Given the description of an element on the screen output the (x, y) to click on. 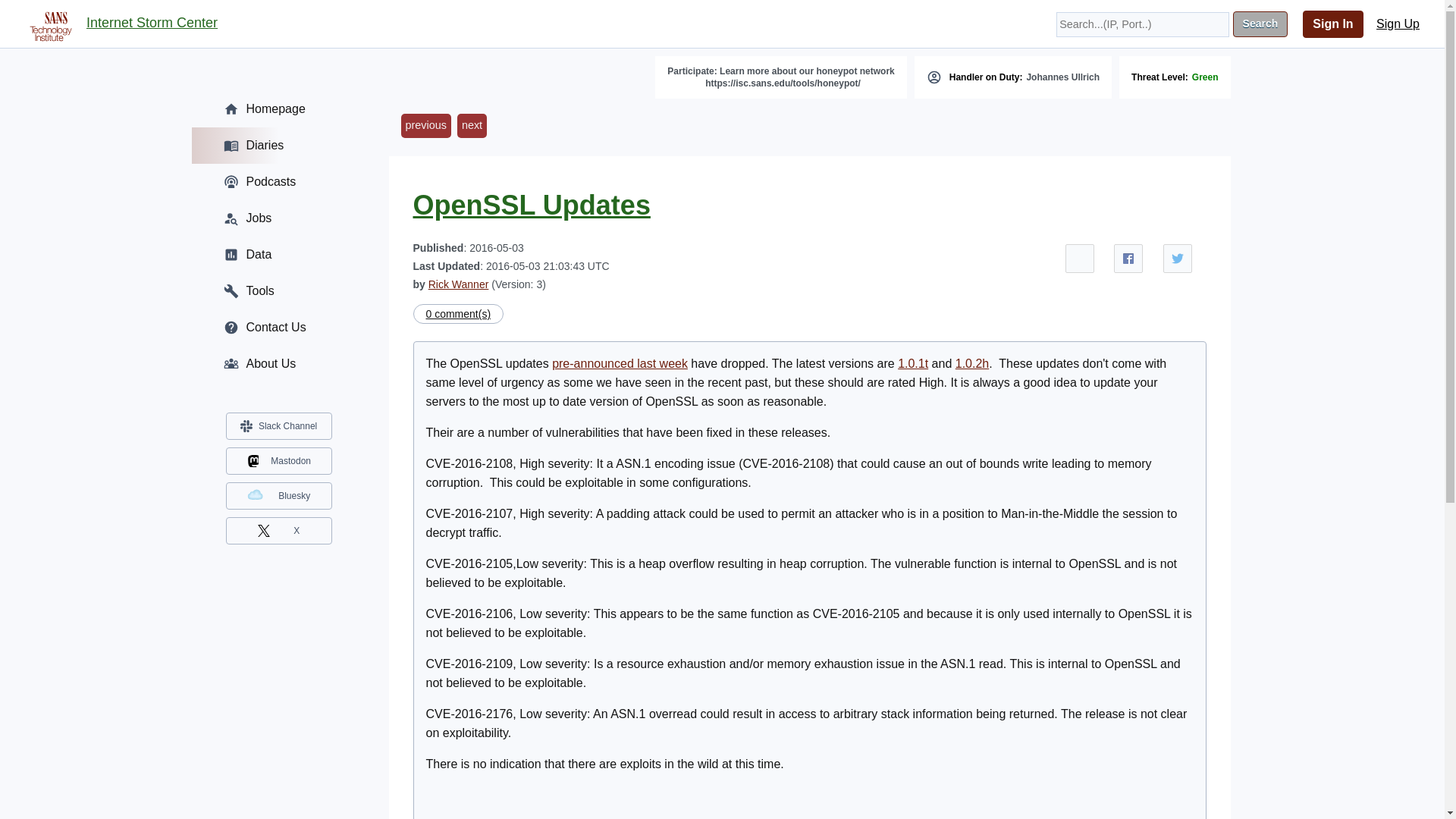
Share on Twitter (1177, 258)
Full Screen (1079, 258)
Green (1205, 77)
OpenSSL Updates (530, 204)
Rick Wanner (458, 284)
Data (277, 254)
1.0.1t (913, 363)
previous (424, 125)
Jobs (277, 217)
Search (1260, 23)
Internet Storm Center (150, 23)
1.0.2h (971, 363)
Search (1260, 23)
next (471, 125)
Sign Up (1398, 24)
